Given the description of an element on the screen output the (x, y) to click on. 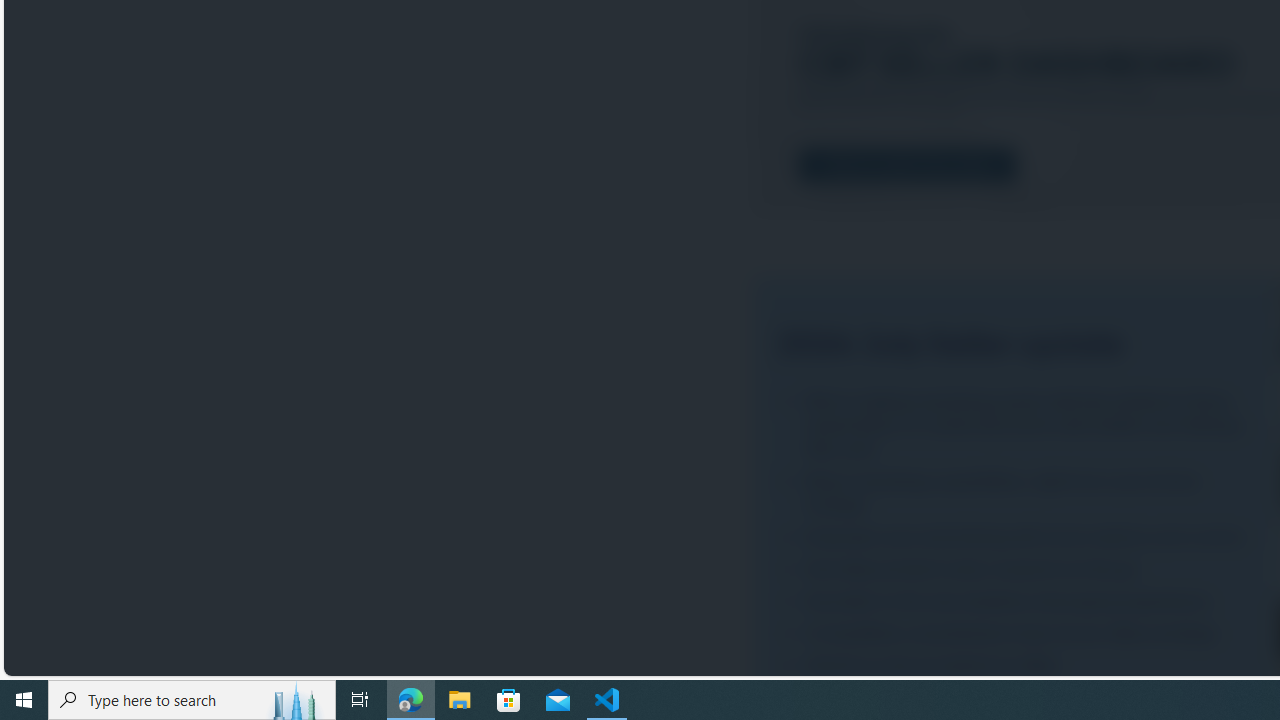
Say hello to the new desktop messaging experience (1015, 601)
Empower your advertising with more metrics and control (1015, 537)
Get eBay product sales research on the go (1015, 569)
Venmo is now accepted on eBay (1015, 665)
A simplified, consolidated view of your eBay earnings (1015, 632)
More marketing capabilities, right from your Active Listings (1015, 492)
